Given the description of an element on the screen output the (x, y) to click on. 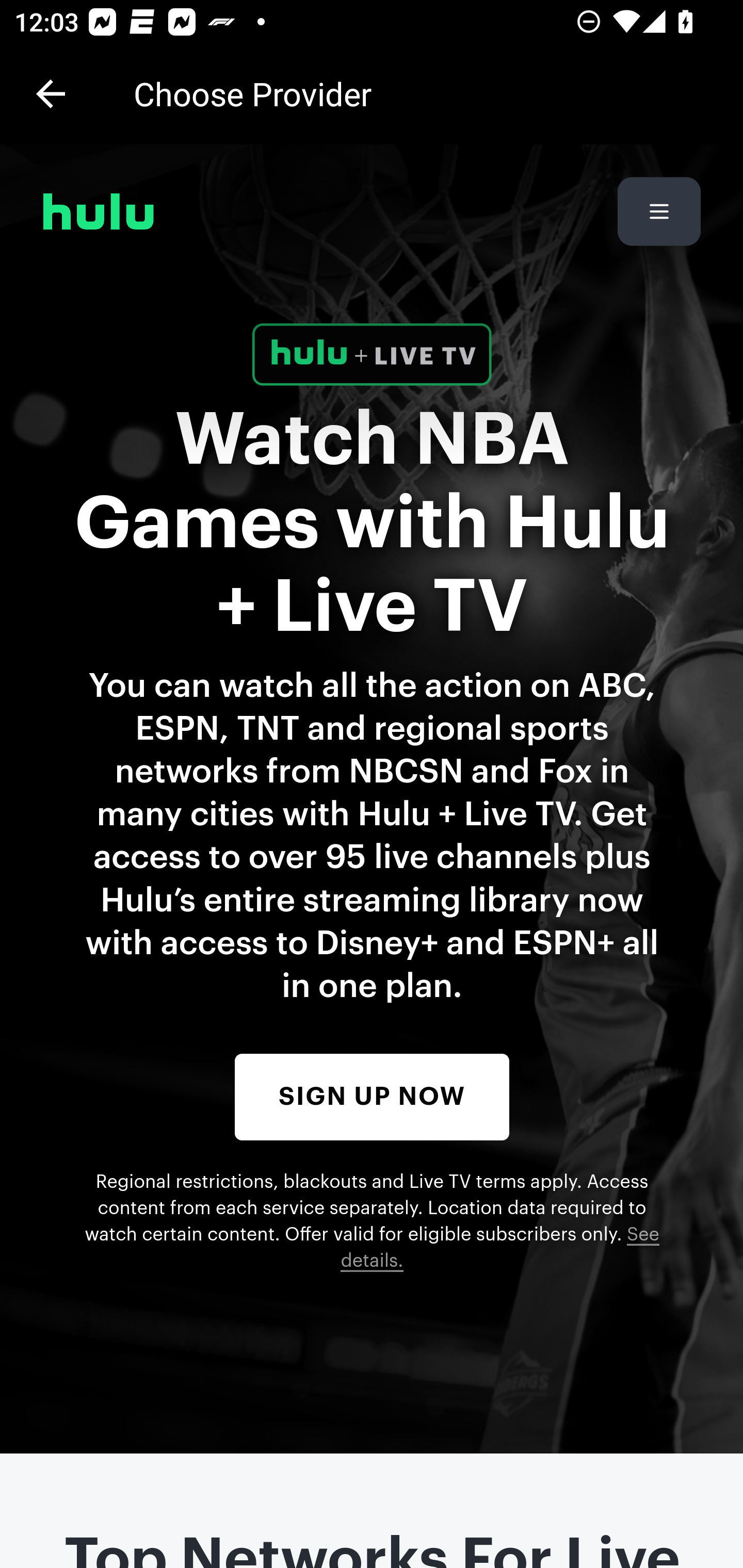
Navigate up (50, 93)
hulu (99, 211)
Watch NBA Games with Hulu + Live TV (372, 522)
SIGN UP NOW (371, 1096)
See details. (500, 1248)
